Given the description of an element on the screen output the (x, y) to click on. 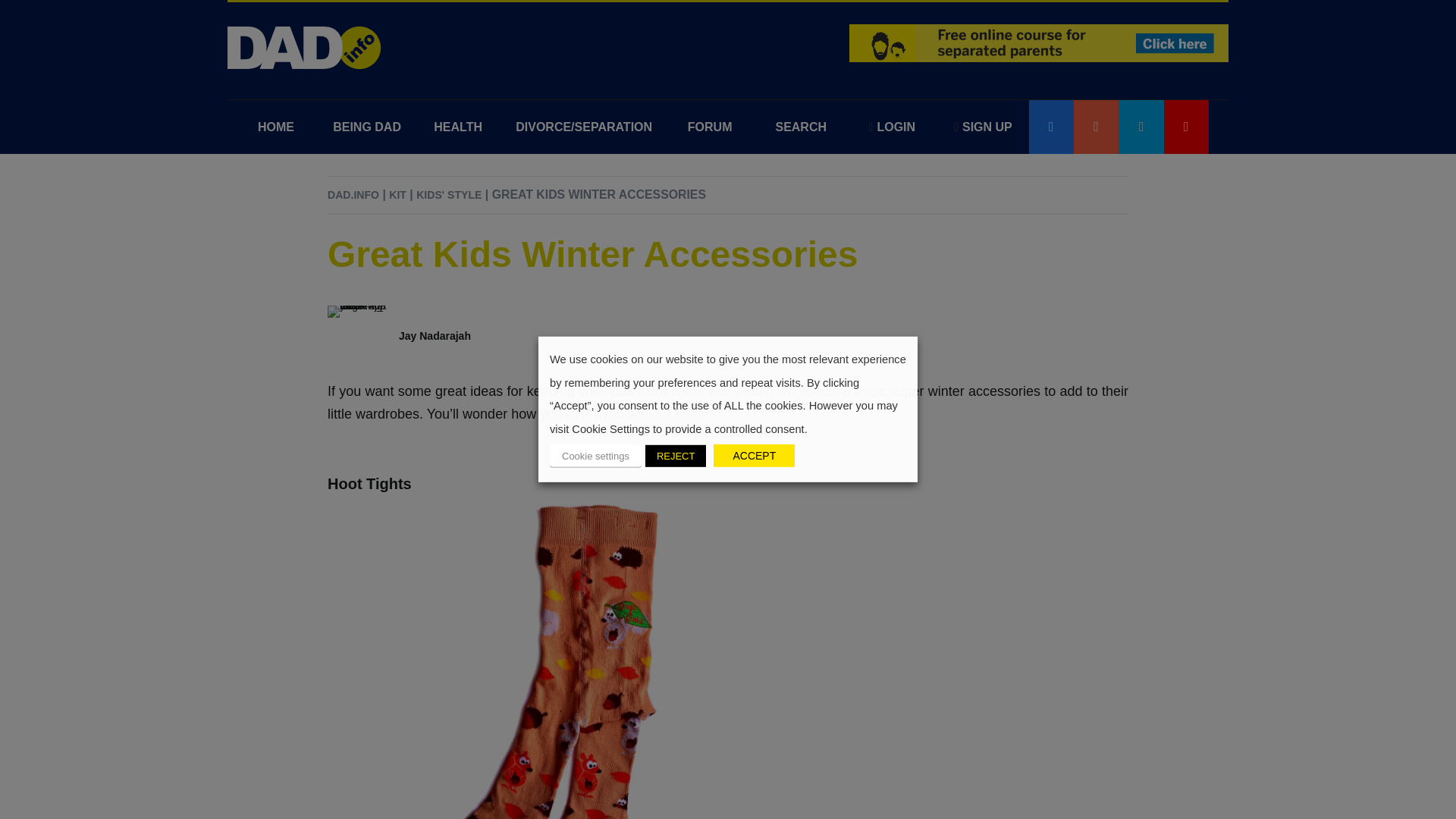
BEING DAD (366, 126)
FORUM (709, 126)
HEALTH (457, 126)
HOME (275, 126)
LOGIN (891, 126)
DAD.info (304, 47)
SEARCH (800, 126)
SIGN UP (982, 126)
